Given the description of an element on the screen output the (x, y) to click on. 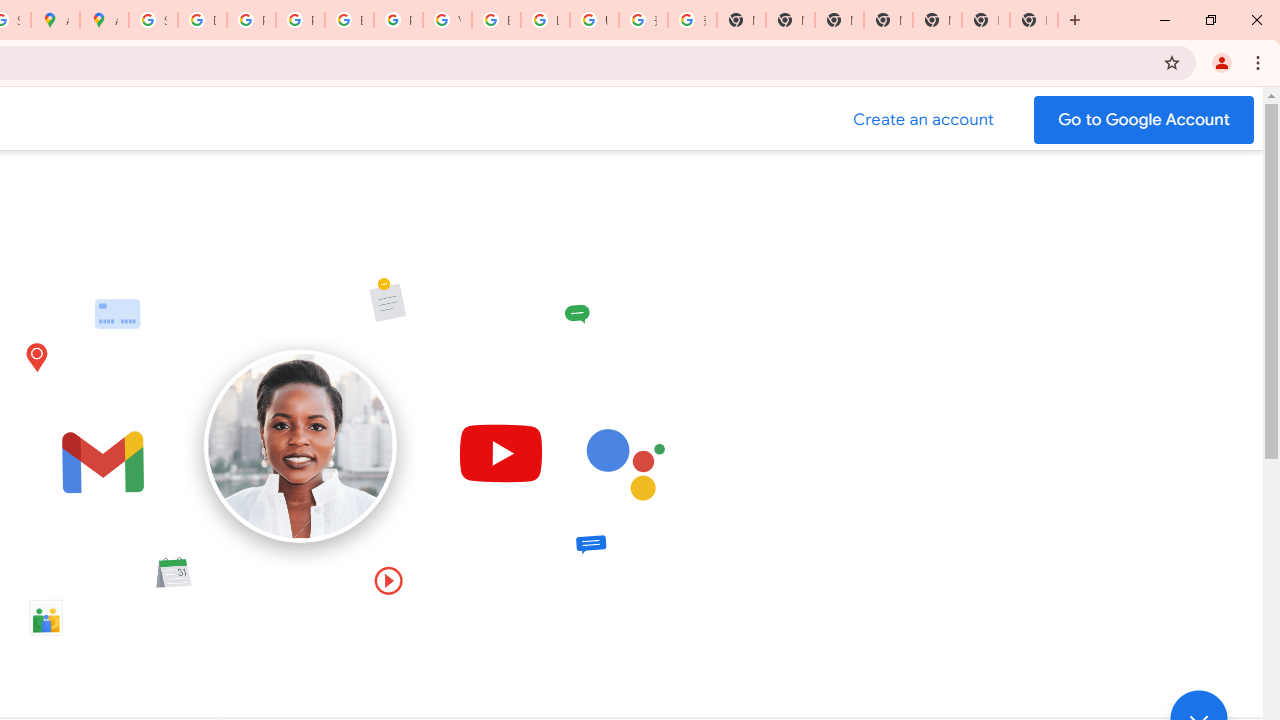
New Tab (985, 20)
Create a Google Account (923, 119)
YouTube (447, 20)
